Given the description of an element on the screen output the (x, y) to click on. 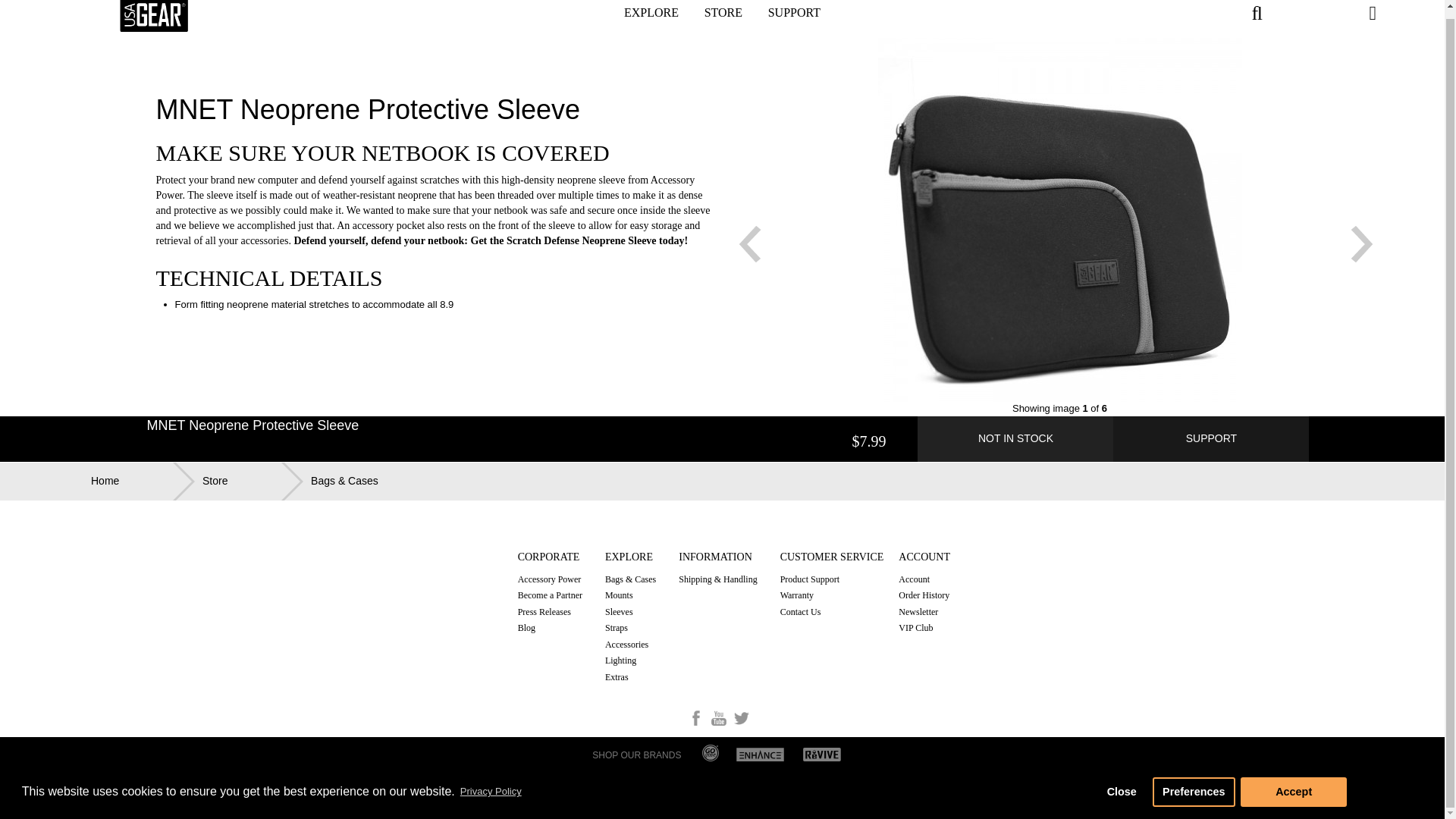
EXPLORE (651, 18)
Privacy Policy (490, 784)
USA Gear (153, 15)
Close (1121, 784)
STORE (723, 18)
Accept (1293, 784)
Preferences (1193, 784)
